Given the description of an element on the screen output the (x, y) to click on. 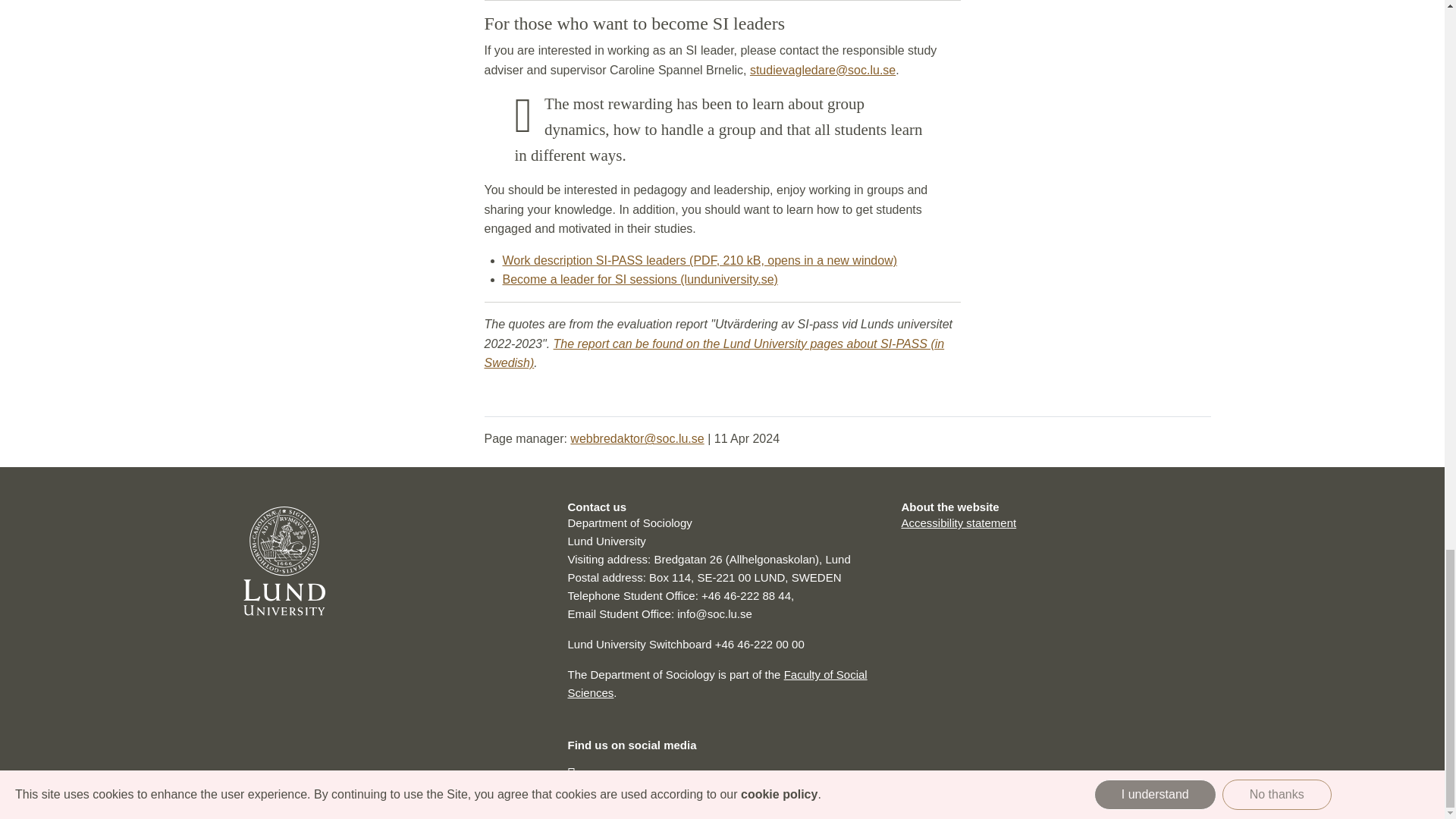
The Department of Sociology Facebook page. (571, 775)
